Given the description of an element on the screen output the (x, y) to click on. 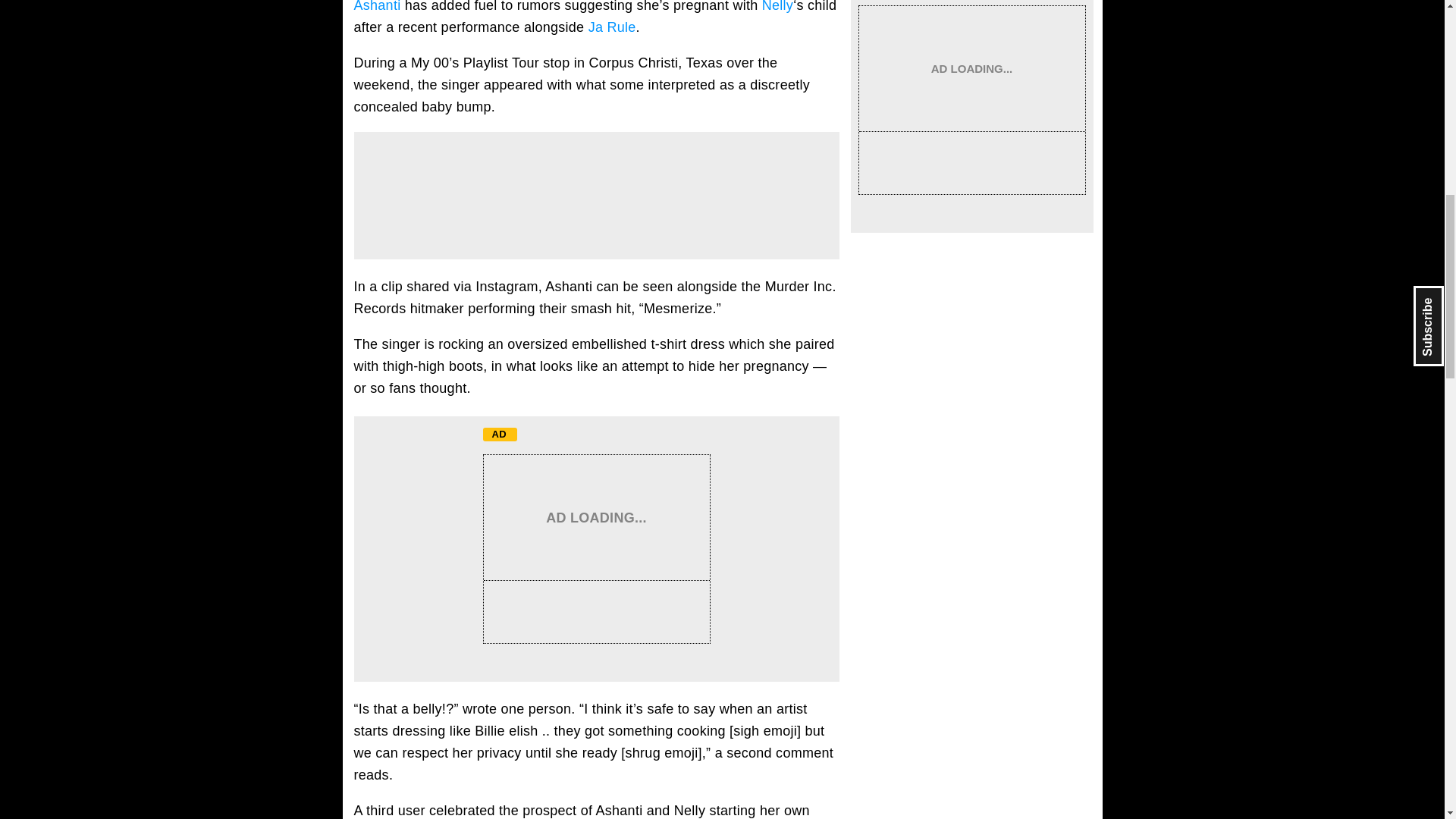
Ja Rule (612, 27)
Nelly (777, 6)
Ashanti (376, 6)
